Given the description of an element on the screen output the (x, y) to click on. 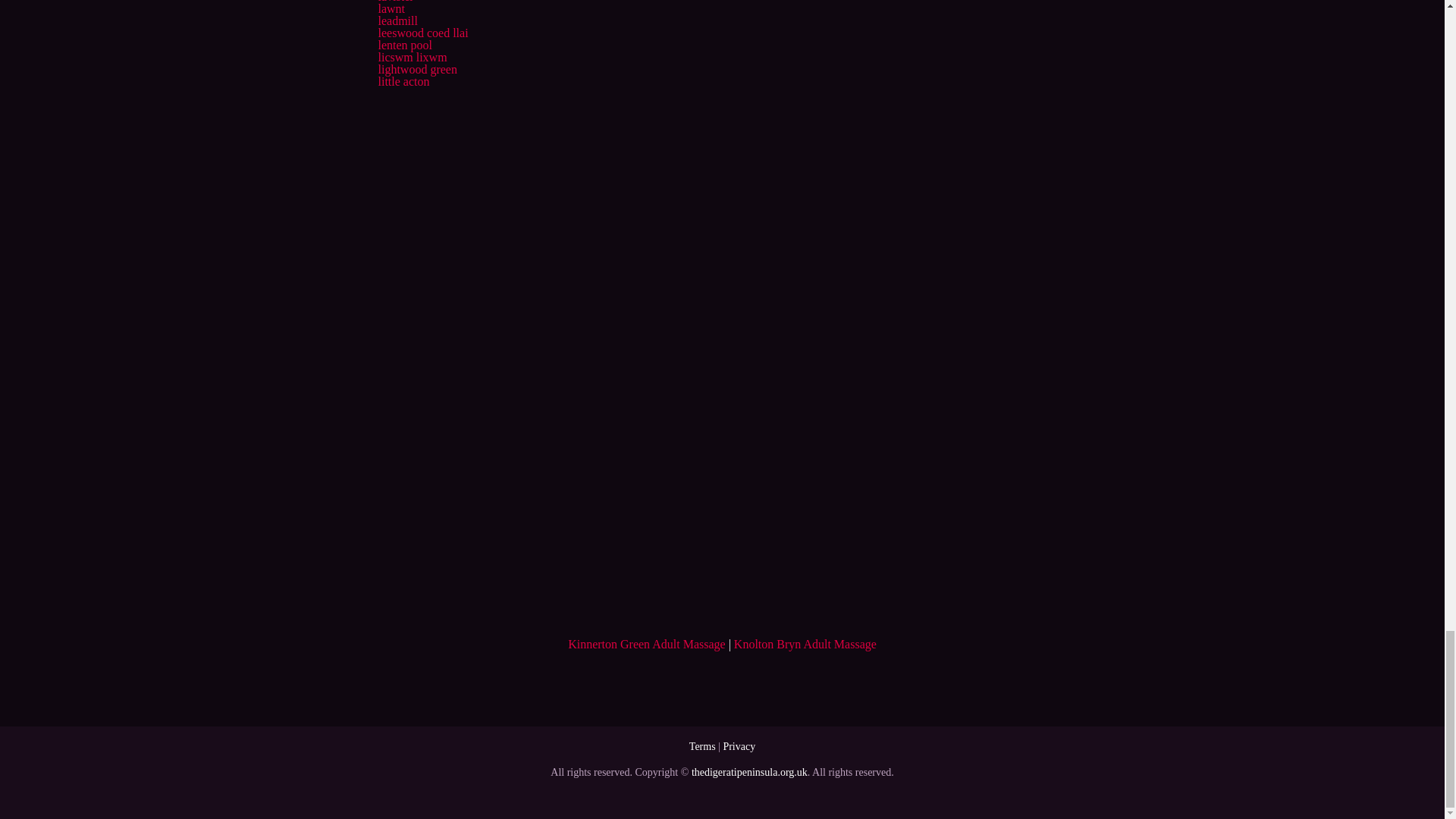
lightwood green (417, 69)
Privacy (738, 746)
lavister (395, 1)
lenten pool (404, 44)
Privacy (738, 746)
Knolton Bryn Adult Massage (804, 644)
Terms (702, 746)
leeswood coed llai (422, 32)
Kinnerton Green Adult Massage (646, 644)
Terms (702, 746)
